Given the description of an element on the screen output the (x, y) to click on. 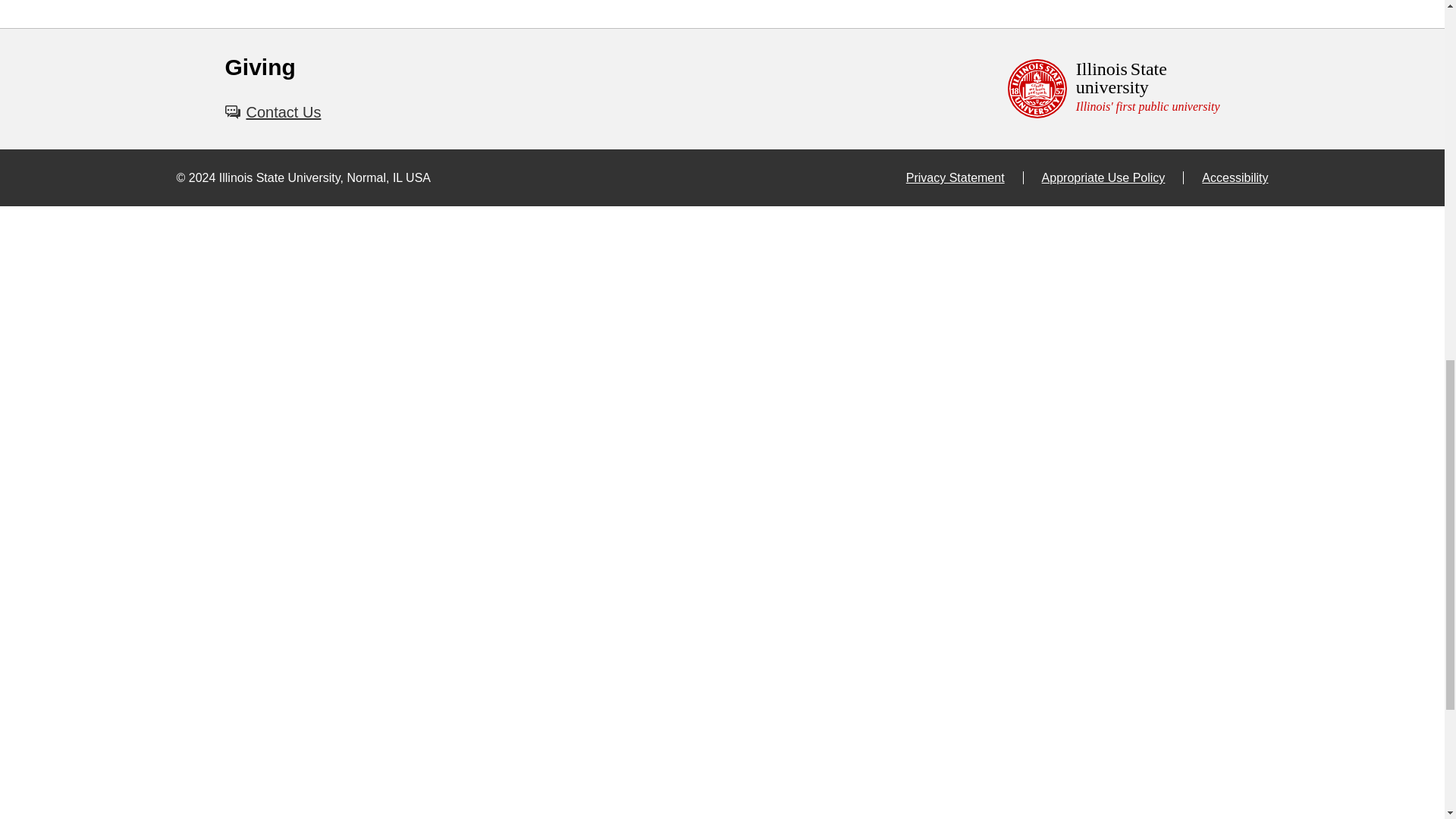
Privacy Statement (964, 177)
Appropriate Use Policy (1113, 89)
Contact Us (1113, 177)
Accessibility (272, 112)
